Given the description of an element on the screen output the (x, y) to click on. 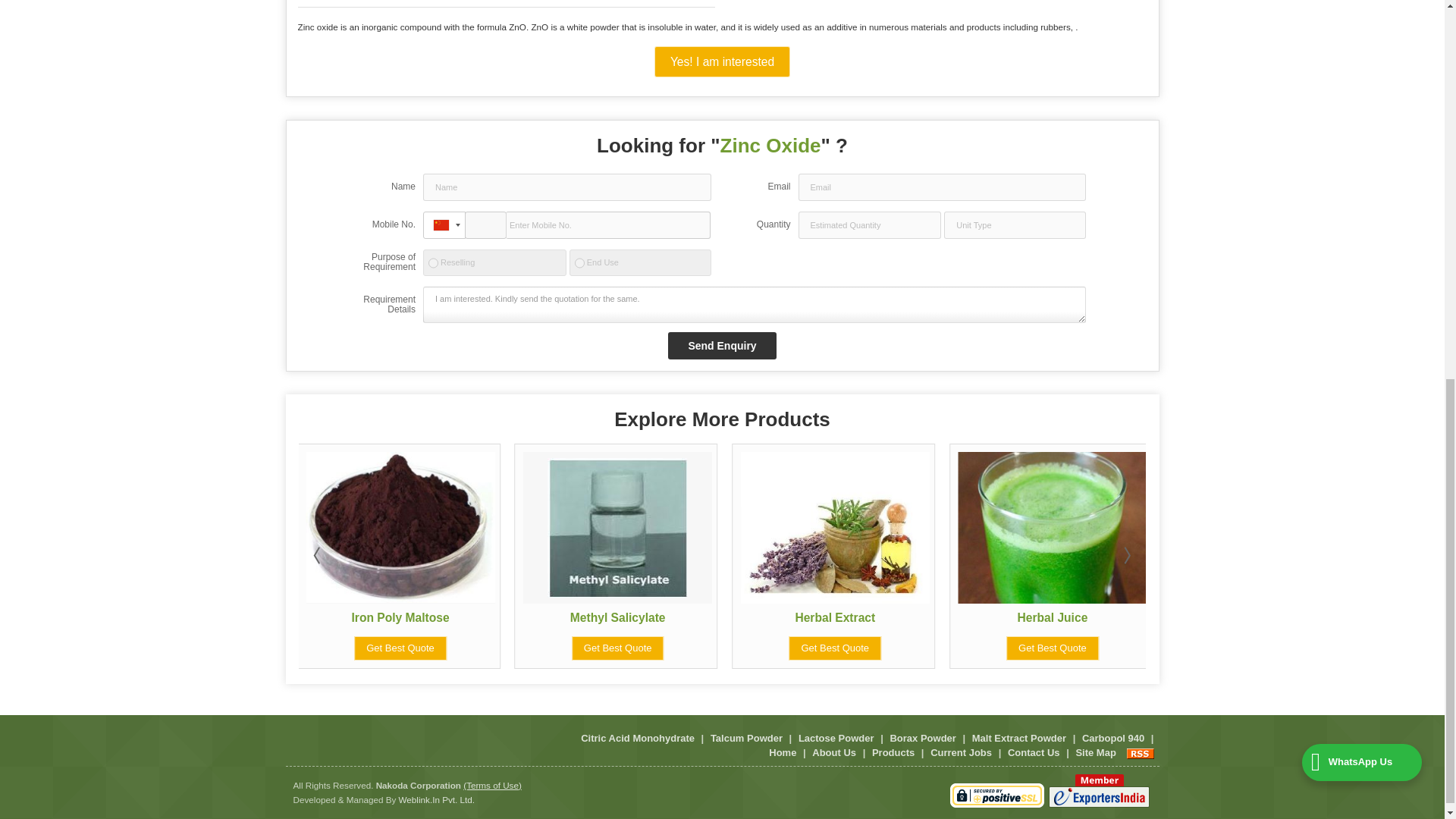
Send Enquiry (722, 345)
